Given the description of an element on the screen output the (x, y) to click on. 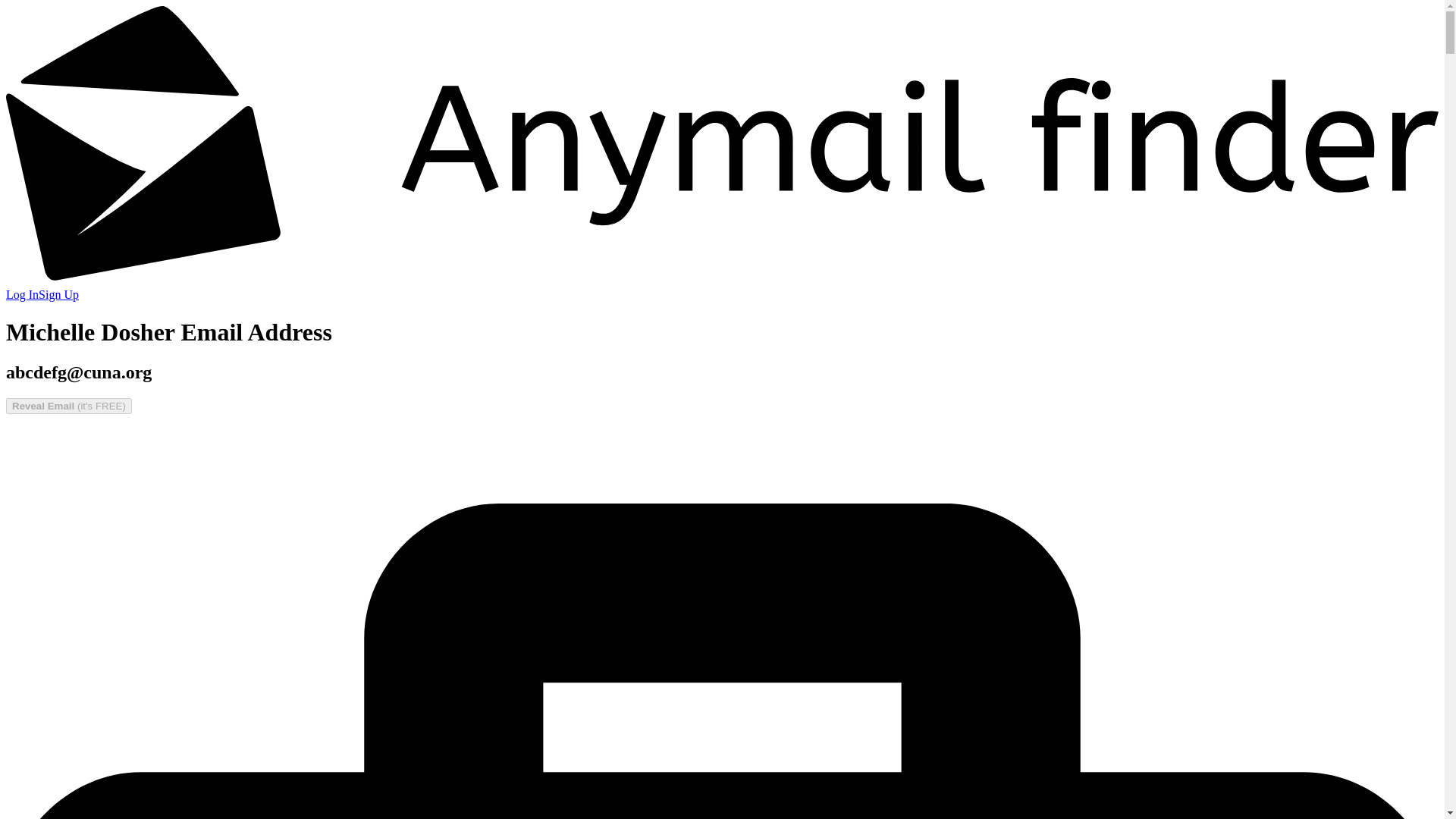
Sign Up (58, 294)
Log In (22, 294)
